Given the description of an element on the screen output the (x, y) to click on. 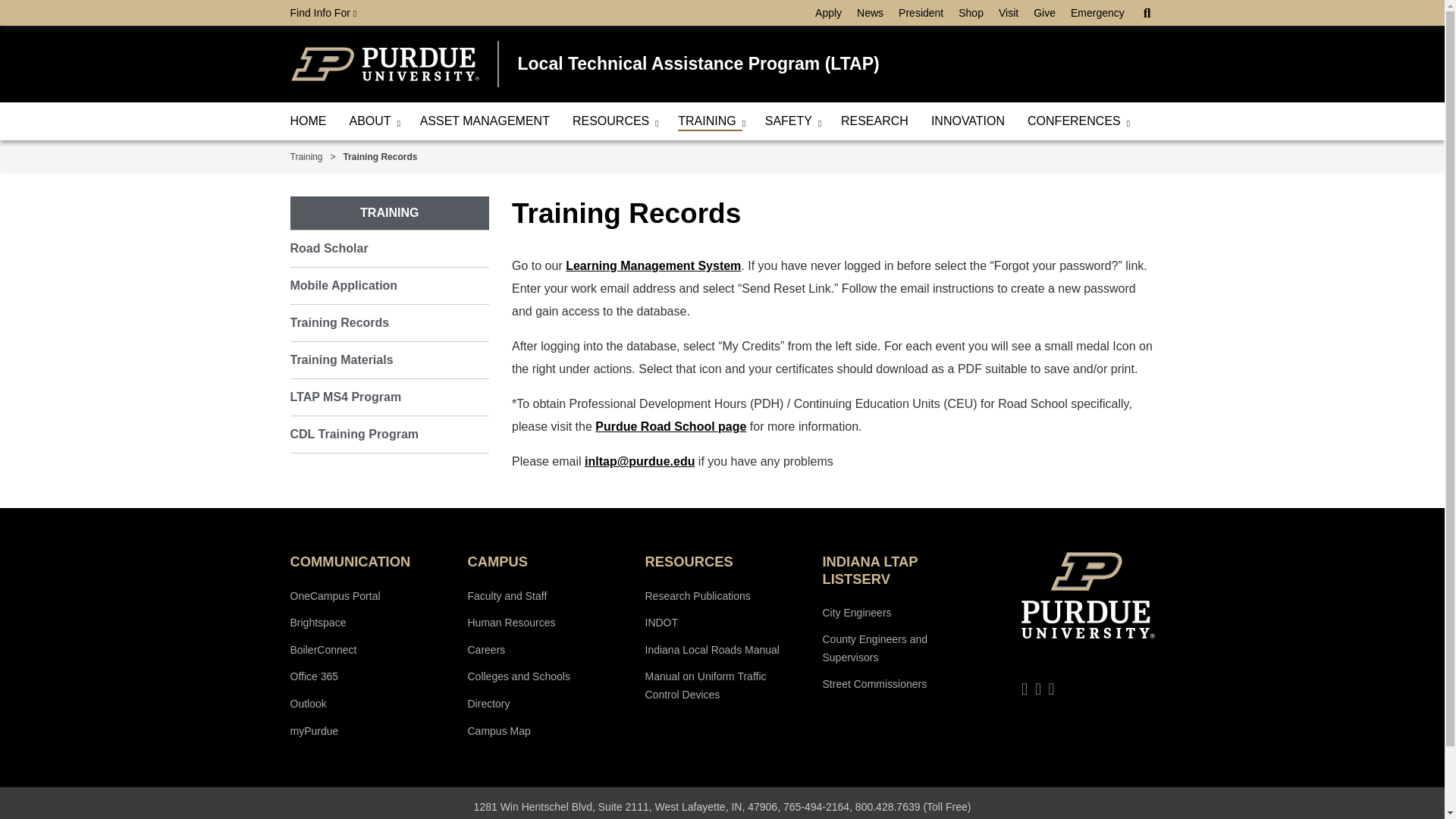
Find Info For (322, 12)
Give (1044, 12)
Shop (970, 12)
RESOURCES (613, 121)
HOME (308, 121)
Apply (828, 12)
Purdue logo (384, 63)
President (920, 12)
Emergency (1097, 12)
Visit (1008, 12)
